Given the description of an element on the screen output the (x, y) to click on. 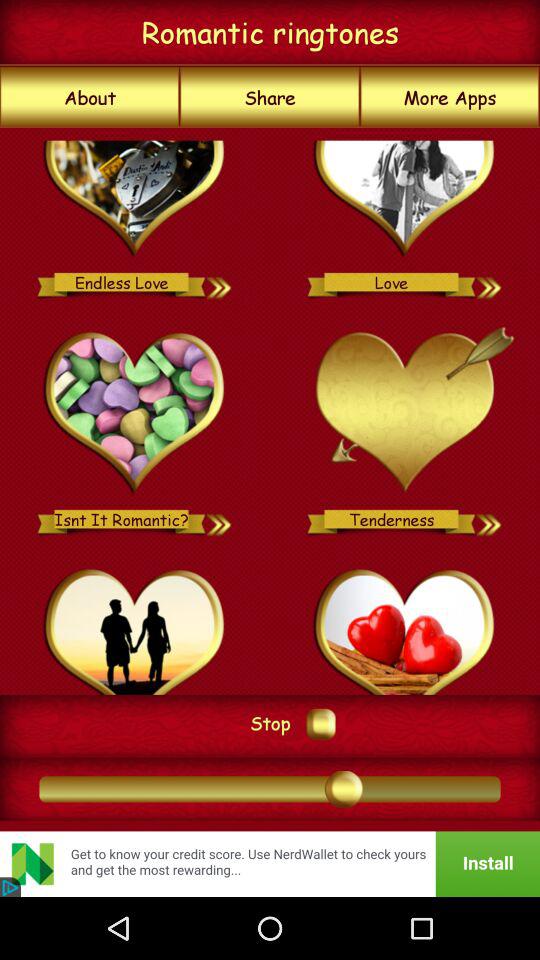
choose icon above stop (270, 410)
